Given the description of an element on the screen output the (x, y) to click on. 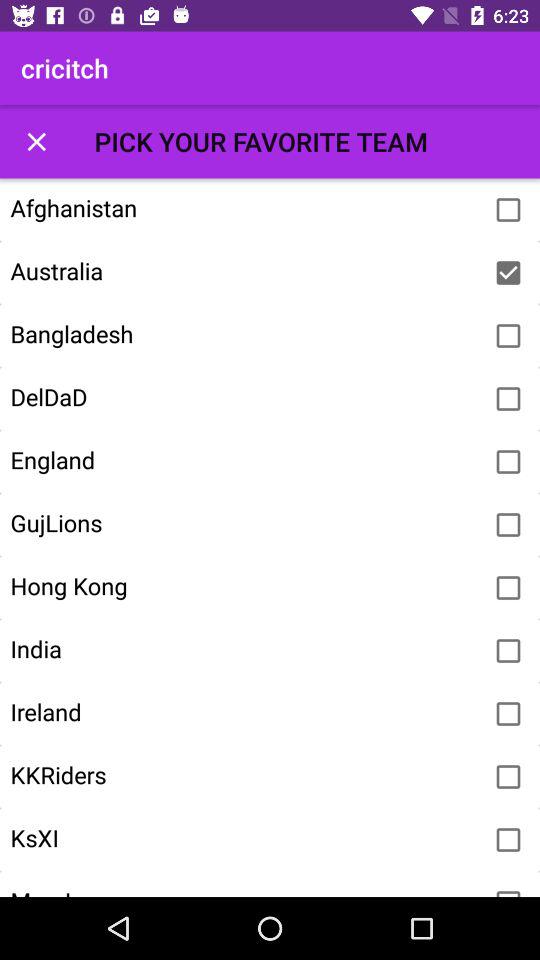
check the box (508, 889)
